Given the description of an element on the screen output the (x, y) to click on. 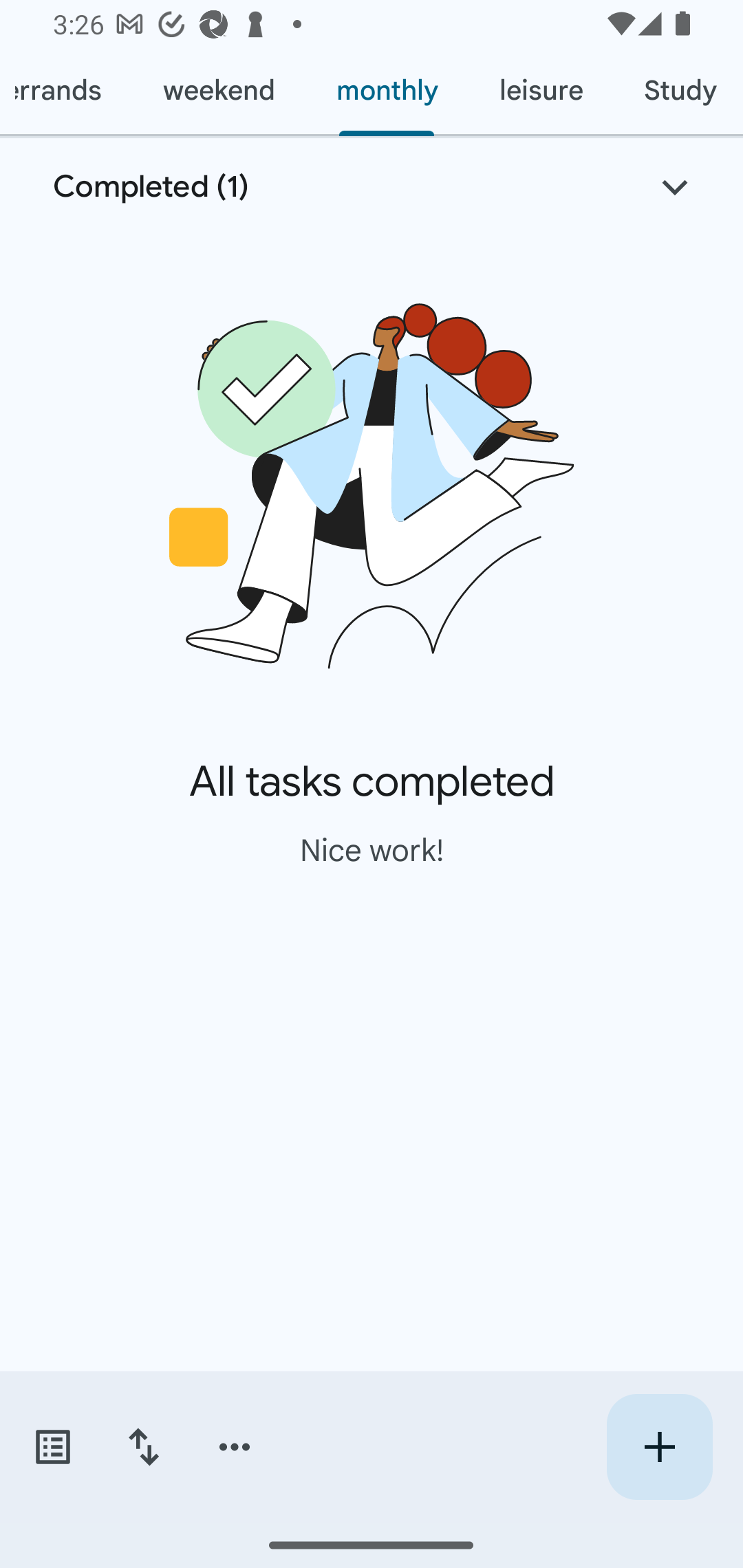
errands (66, 90)
weekend (218, 90)
leisure (540, 90)
Study (677, 90)
Completed (1) (371, 186)
Switch task lists (52, 1447)
Create new task (659, 1446)
Change sort order (143, 1446)
More options (234, 1446)
